Given the description of an element on the screen output the (x, y) to click on. 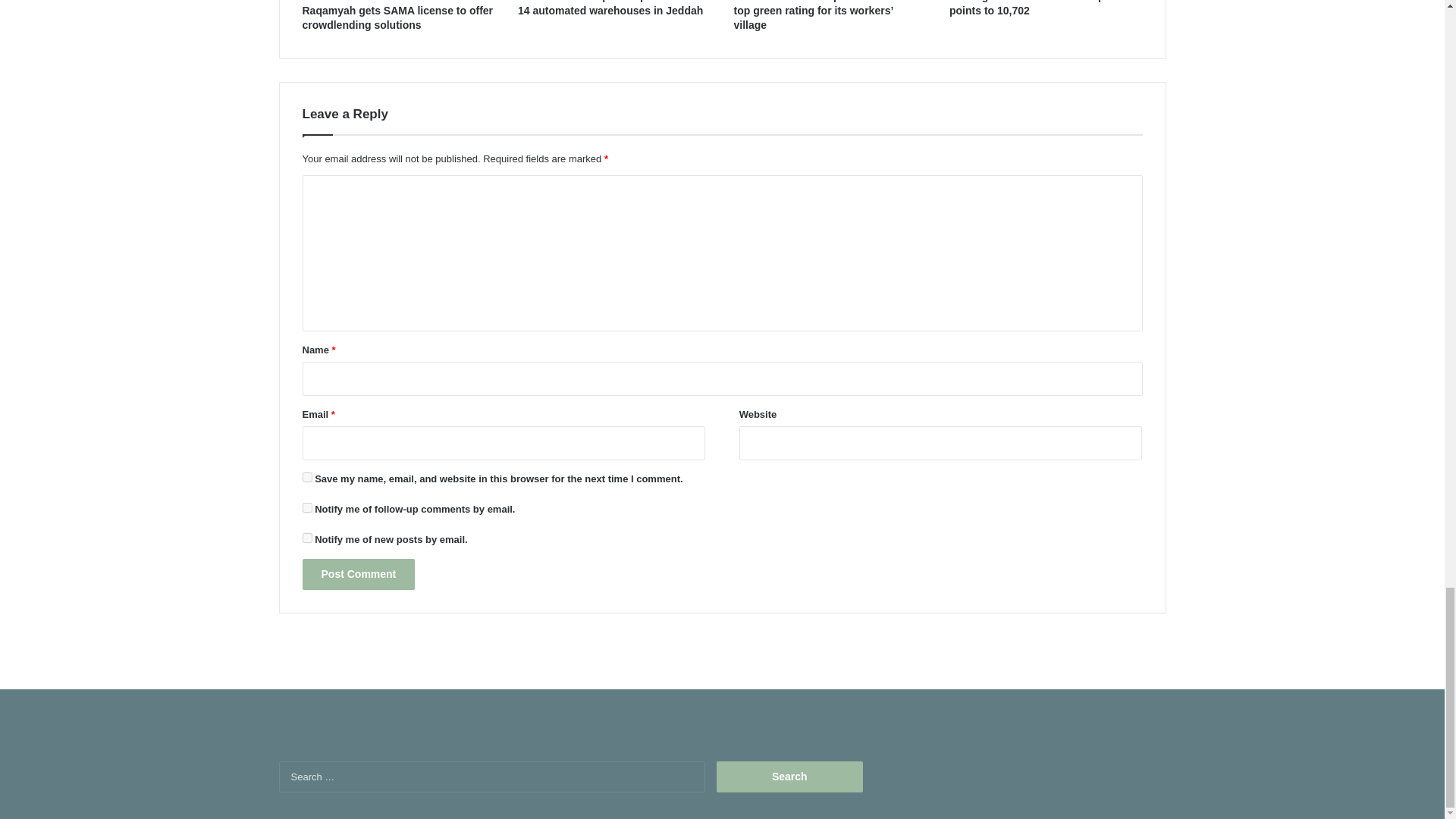
Post Comment (357, 573)
subscribe (306, 507)
subscribe (306, 537)
Search (789, 776)
Search (789, 776)
yes (306, 477)
